Given the description of an element on the screen output the (x, y) to click on. 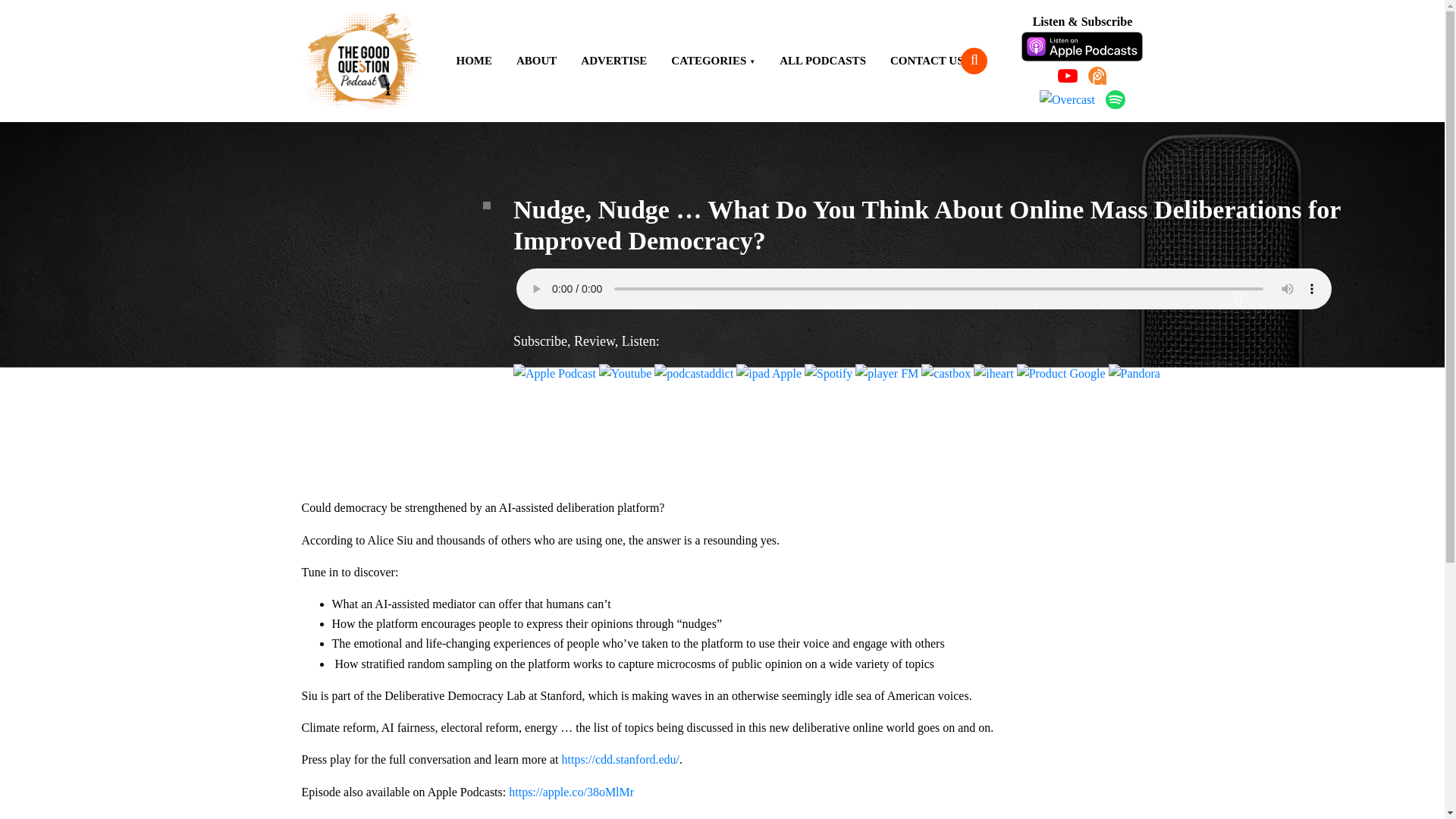
HOME (474, 60)
Podcast Addict (1096, 75)
Google Podcast (1060, 373)
YouTube (1067, 75)
Pandora (1134, 373)
Youtube (625, 373)
Overcast (1066, 99)
Spotify (1115, 99)
ABOUT (536, 60)
Spotify (828, 373)
